Given the description of an element on the screen output the (x, y) to click on. 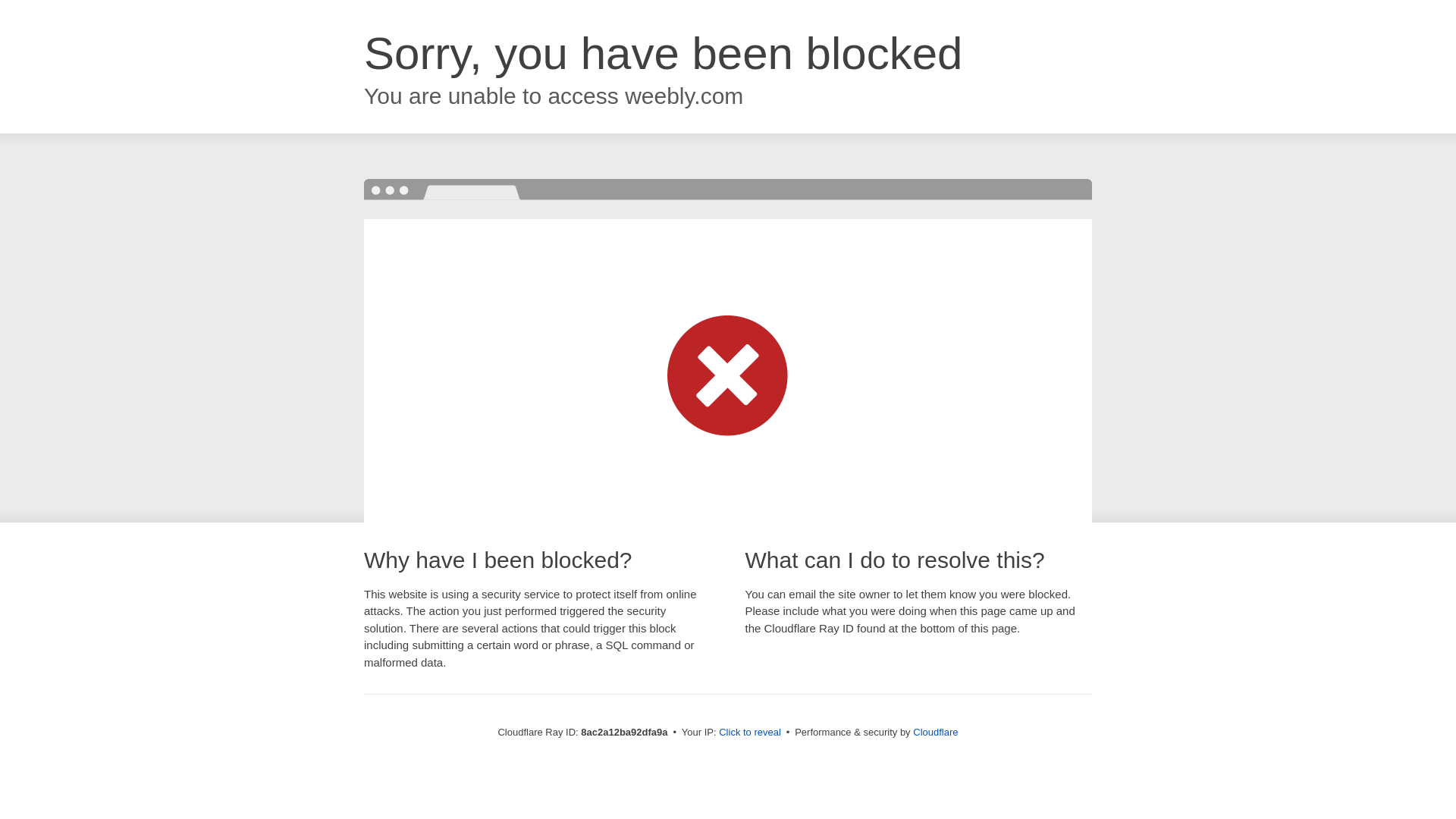
Cloudflare (935, 731)
Click to reveal (749, 732)
